Given the description of an element on the screen output the (x, y) to click on. 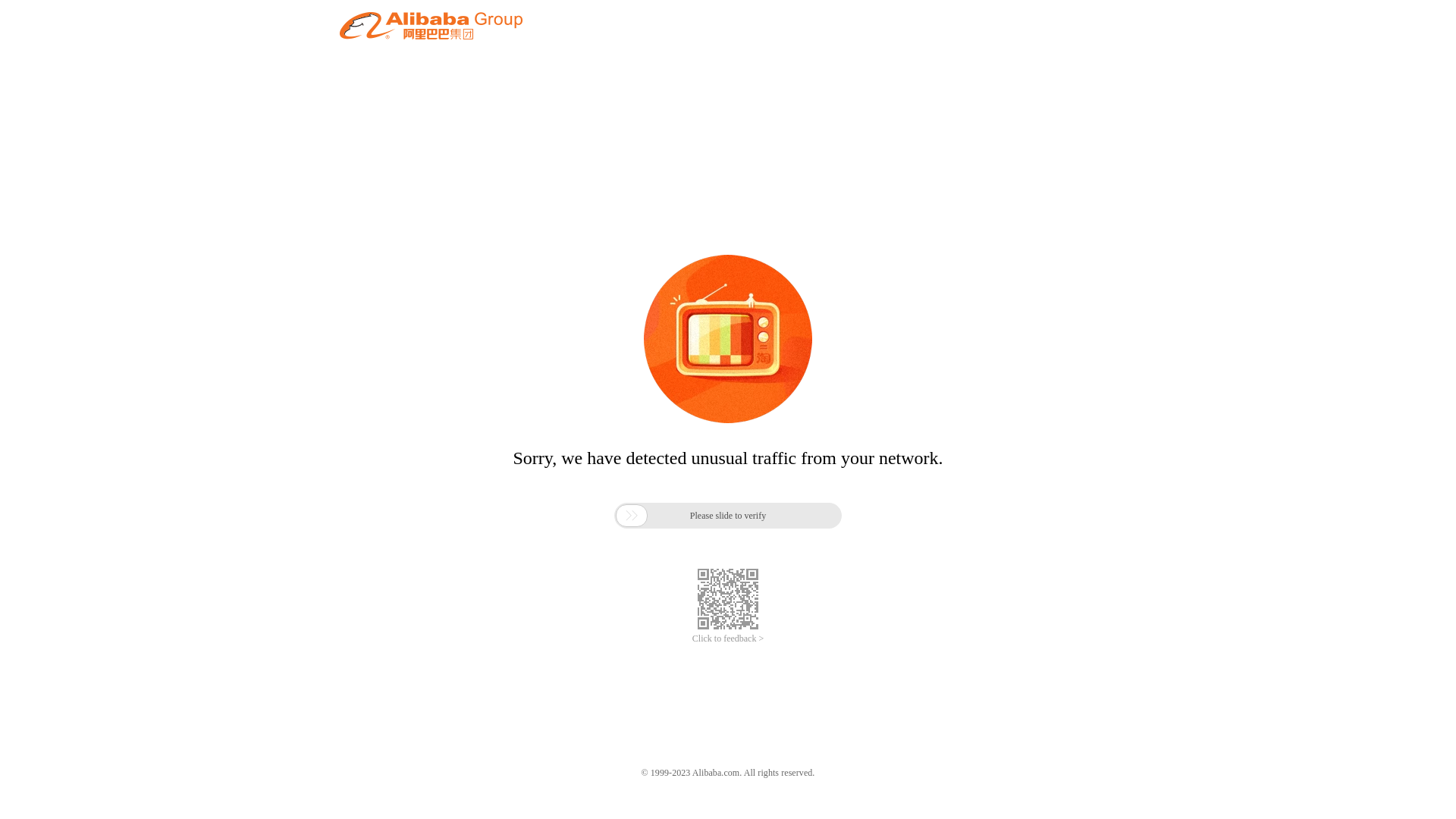
Click to feedback > Element type: text (727, 638)
